Given the description of an element on the screen output the (x, y) to click on. 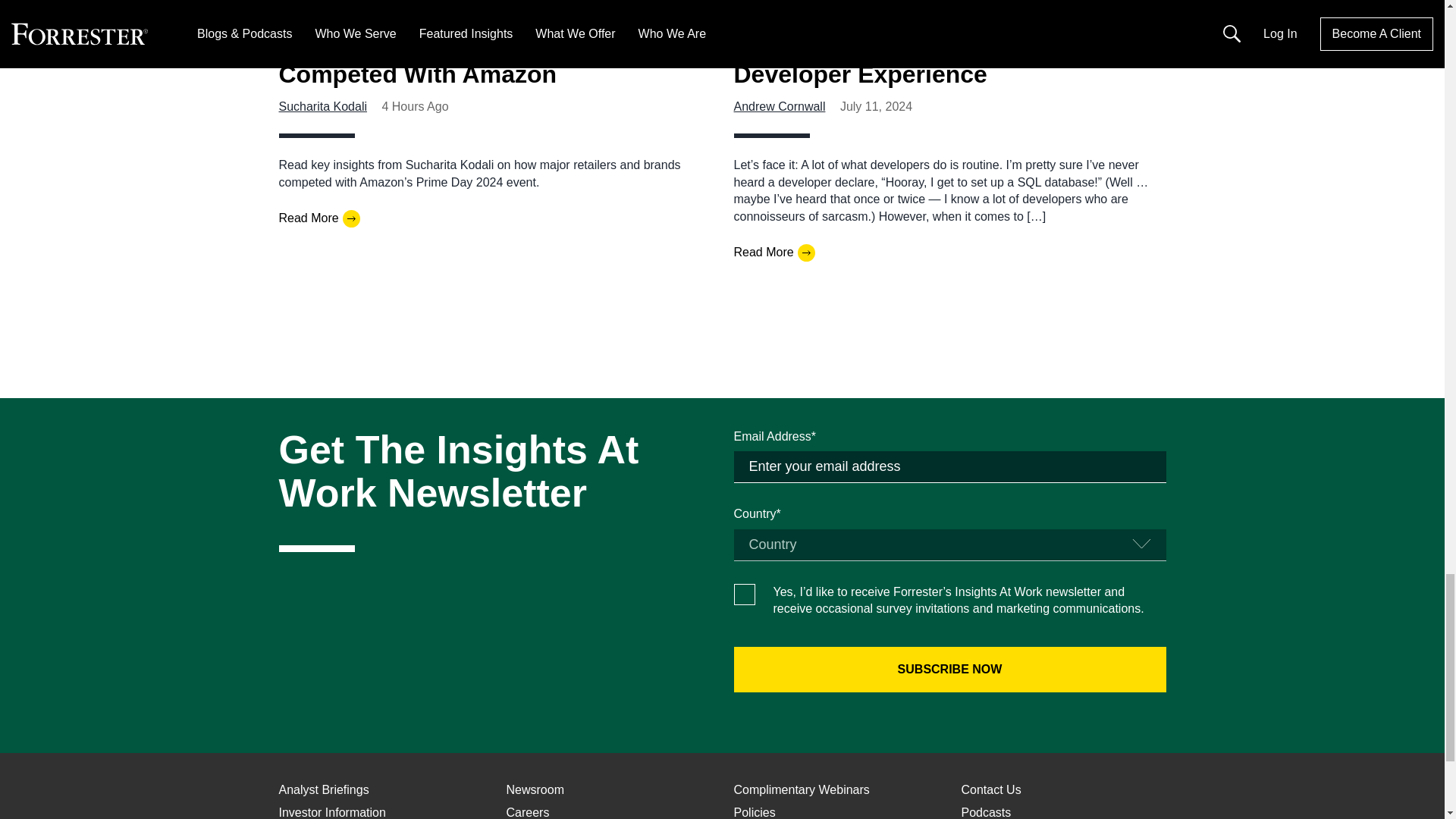
Sucharita Kodali (323, 106)
Andrew Cornwall (779, 106)
Subscribe Now (949, 668)
